Given the description of an element on the screen output the (x, y) to click on. 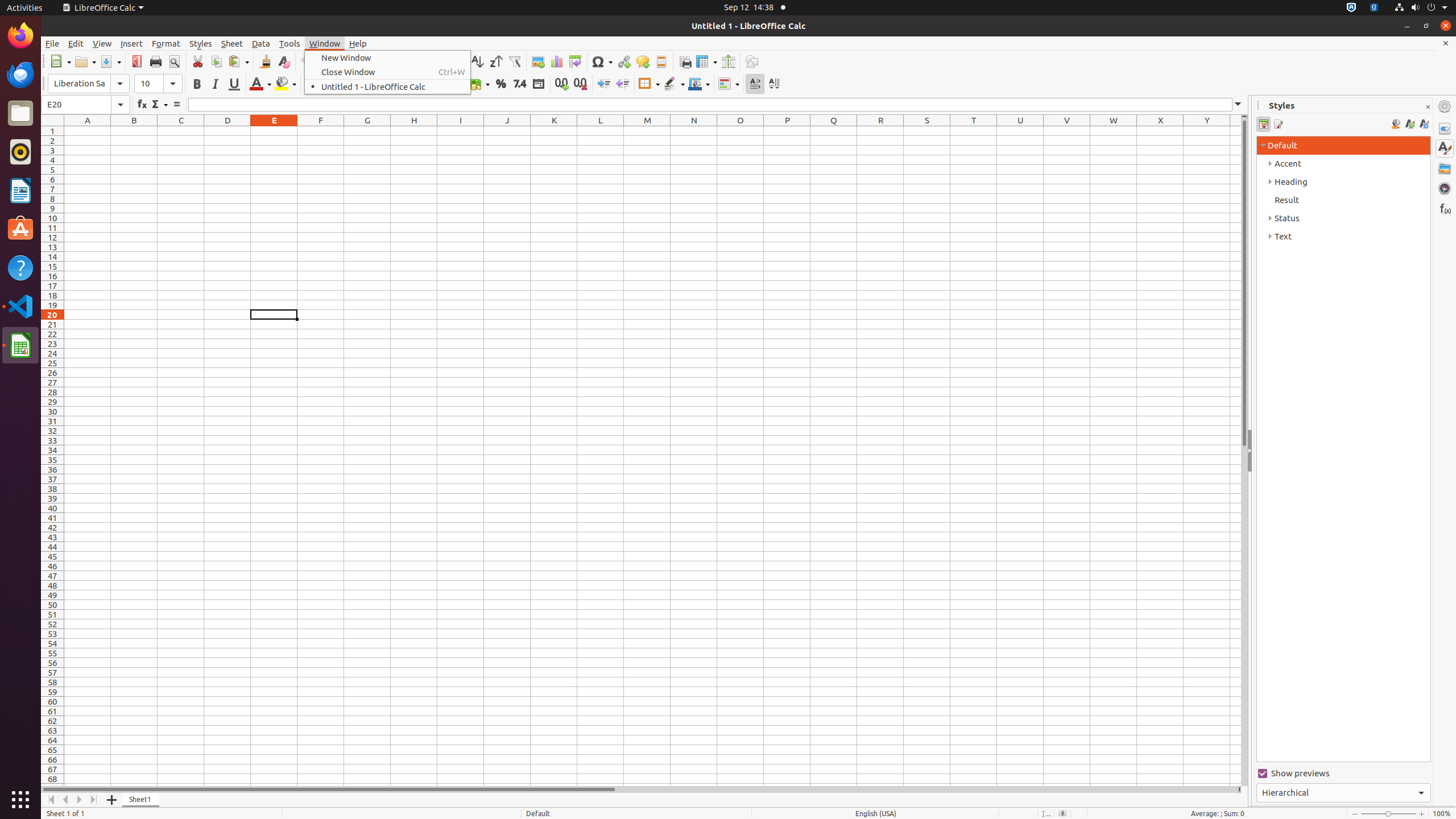
Print Area Element type: push-button (684, 61)
X1 Element type: table-cell (1159, 130)
S1 Element type: table-cell (926, 130)
K1 Element type: table-cell (553, 130)
:1.21/StatusNotifierItem Element type: menu (1373, 7)
